Given the description of an element on the screen output the (x, y) to click on. 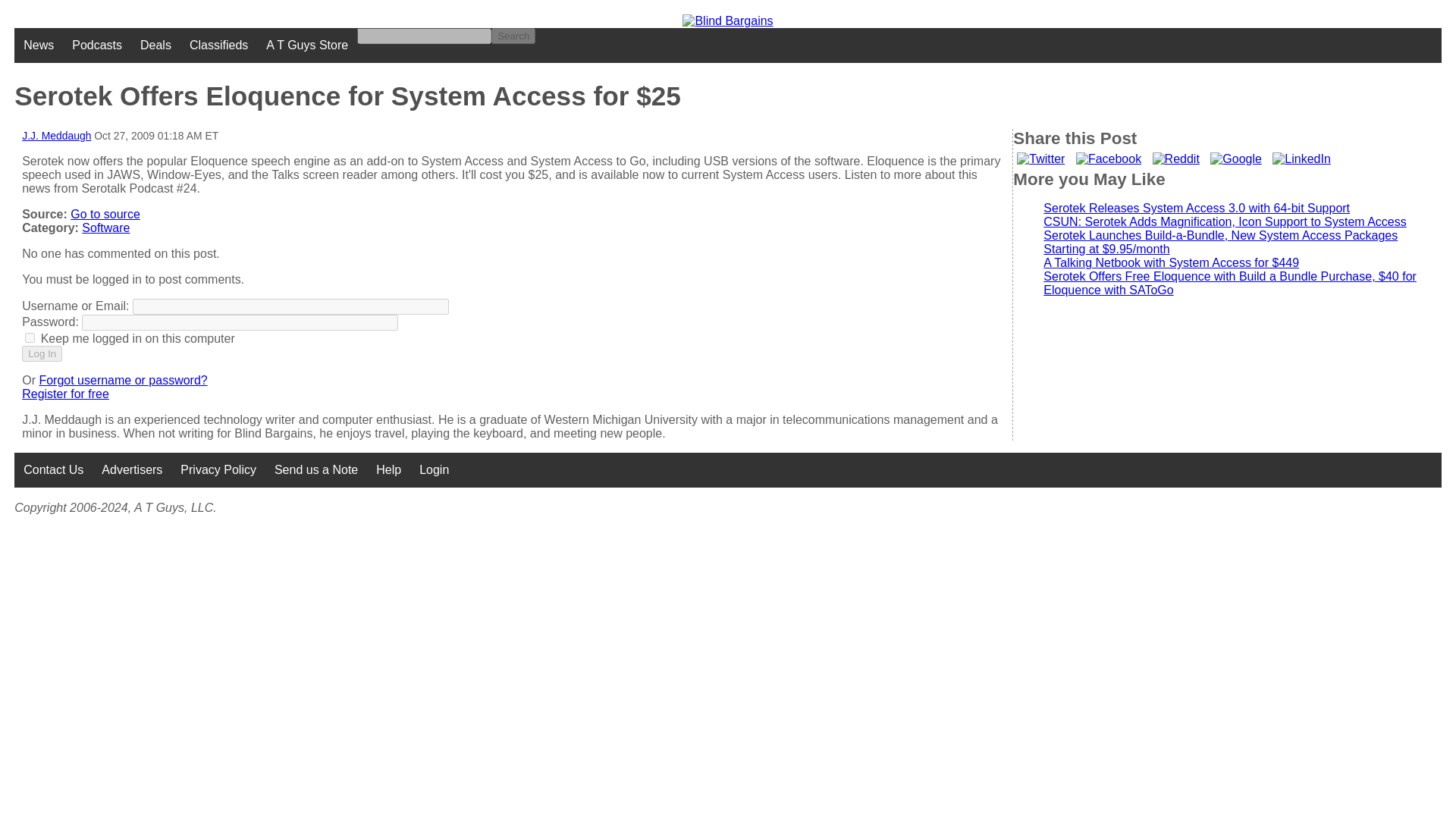
Forgot username or password? (122, 379)
Advertisers (132, 469)
J.J. Meddaugh (55, 135)
Search (513, 35)
Privacy Policy (217, 469)
password (239, 322)
Register for free (65, 393)
Contact Us (53, 469)
Deals (155, 45)
Login (434, 469)
